Given the description of an element on the screen output the (x, y) to click on. 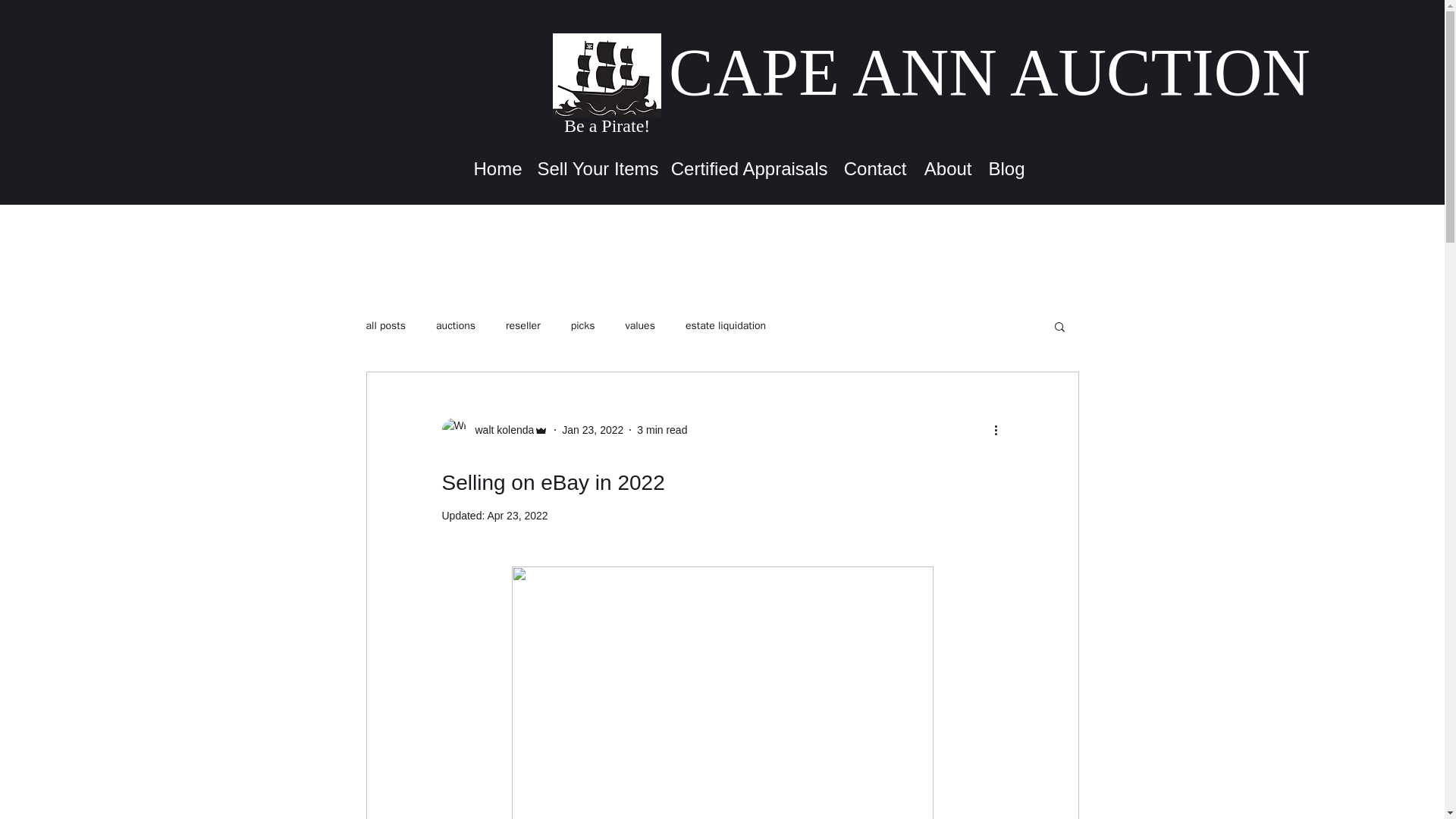
Sell Your Items (595, 168)
reseller (522, 325)
Apr 23, 2022 (516, 515)
estate liquidation (725, 325)
picks (582, 325)
3 min read (662, 428)
walt kolenda (499, 429)
Contact (874, 168)
auctions (455, 325)
Certified Appraisals (747, 168)
